Given the description of an element on the screen output the (x, y) to click on. 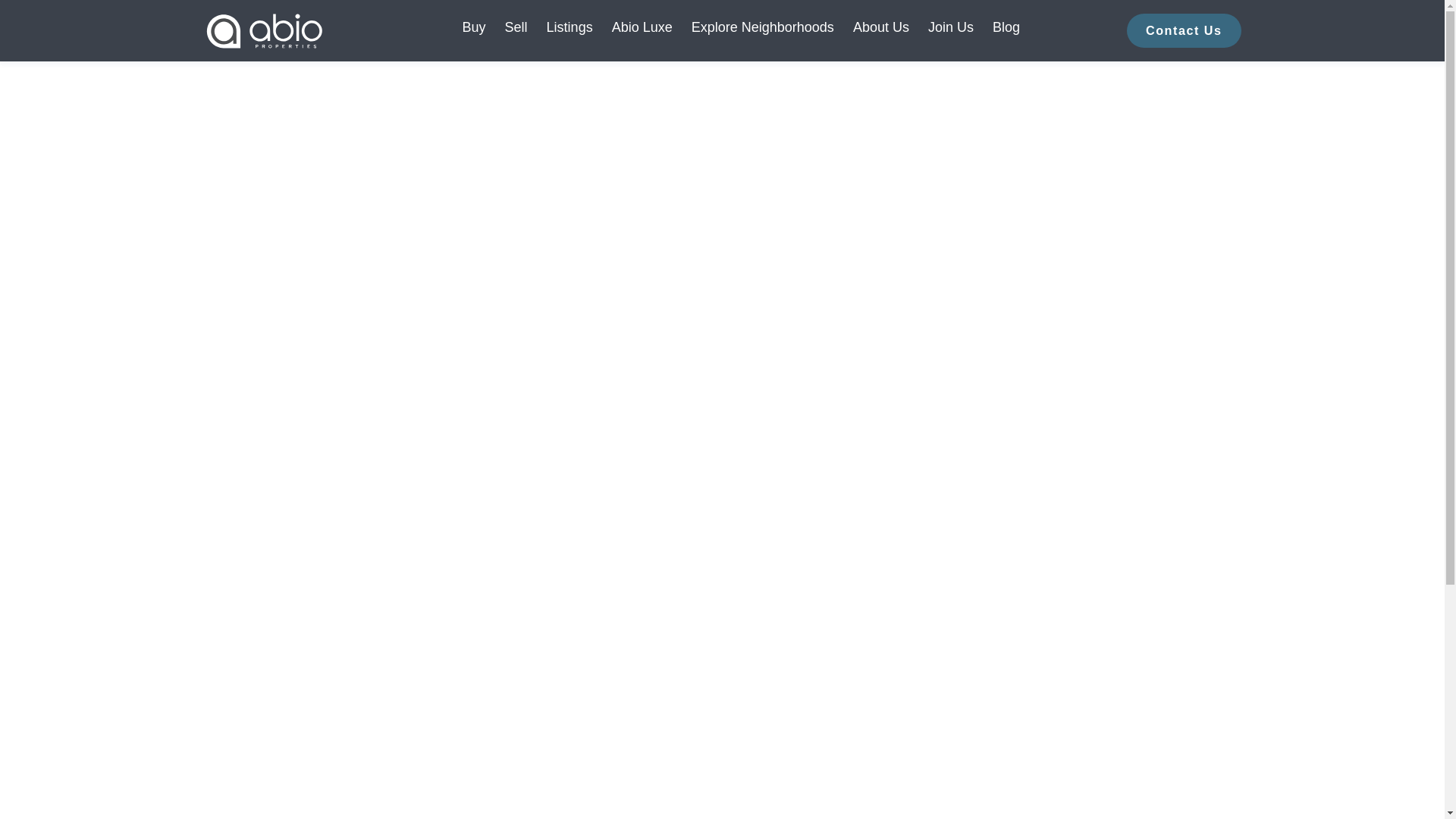
Listings (569, 30)
Join Us (951, 30)
Blog (1006, 30)
Contact Us (1183, 30)
Explore Neighborhoods (762, 30)
About Us (880, 30)
Abio Luxe (641, 30)
